Given the description of an element on the screen output the (x, y) to click on. 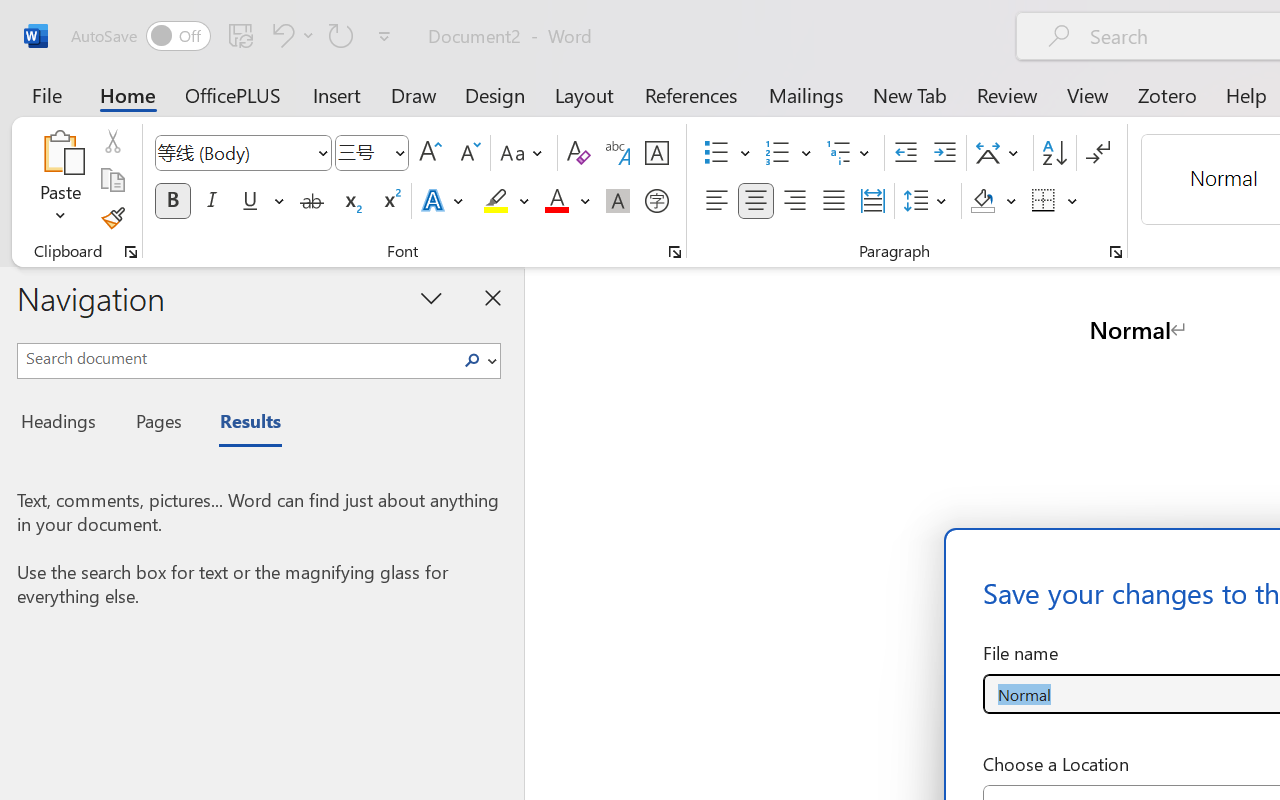
Superscript (390, 201)
Results (240, 424)
Paste (60, 151)
Text Highlight Color (506, 201)
Font Color (567, 201)
Line and Paragraph Spacing (927, 201)
Font Color Red (556, 201)
AutoSave (140, 35)
Font Size (362, 152)
